Given the description of an element on the screen output the (x, y) to click on. 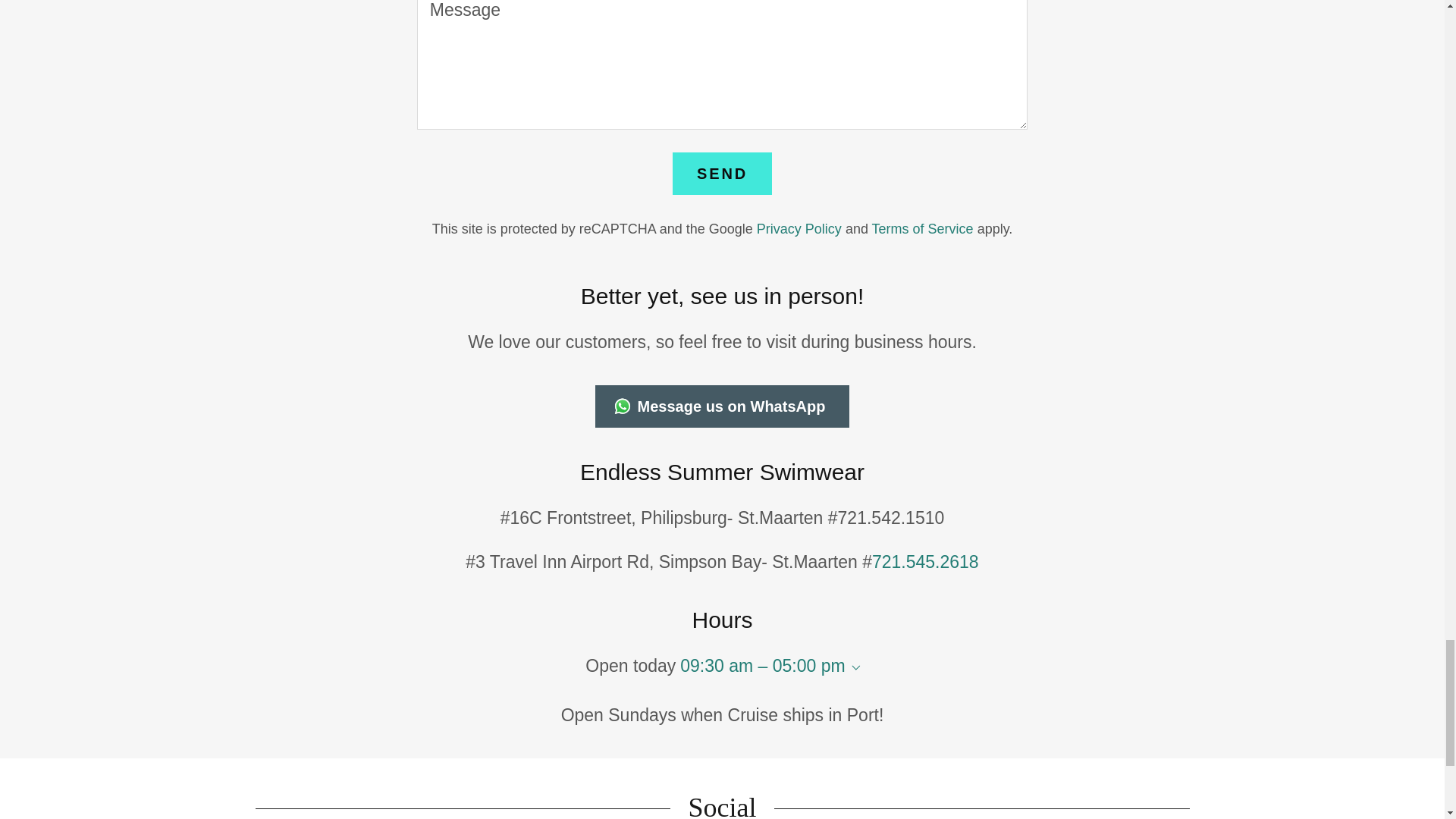
Privacy Policy (799, 228)
Message us on WhatsApp (722, 405)
721.545.2618 (925, 561)
Terms of Service (923, 228)
SEND (721, 173)
